Given the description of an element on the screen output the (x, y) to click on. 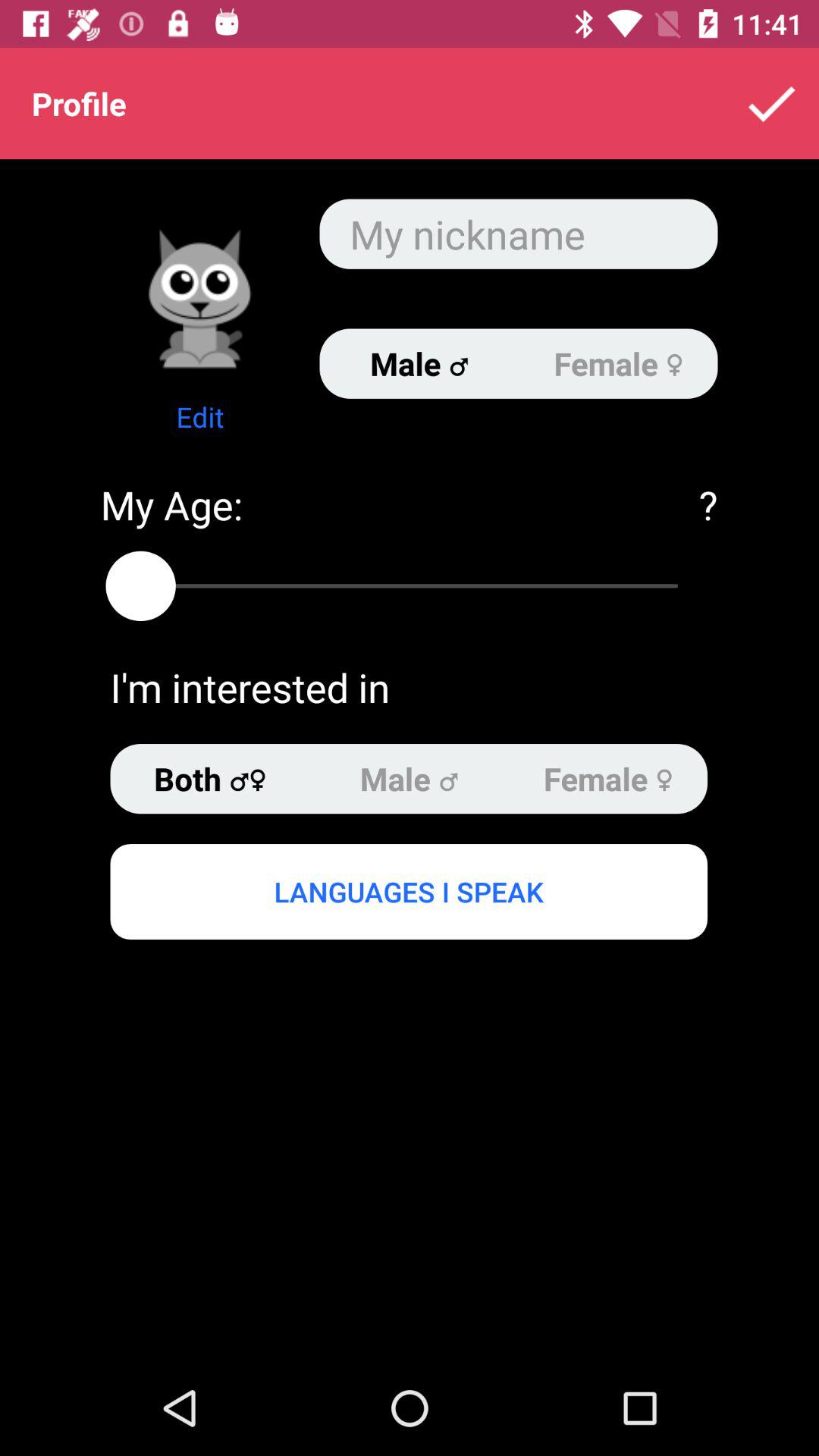
insert nickname field (518, 234)
